Given the description of an element on the screen output the (x, y) to click on. 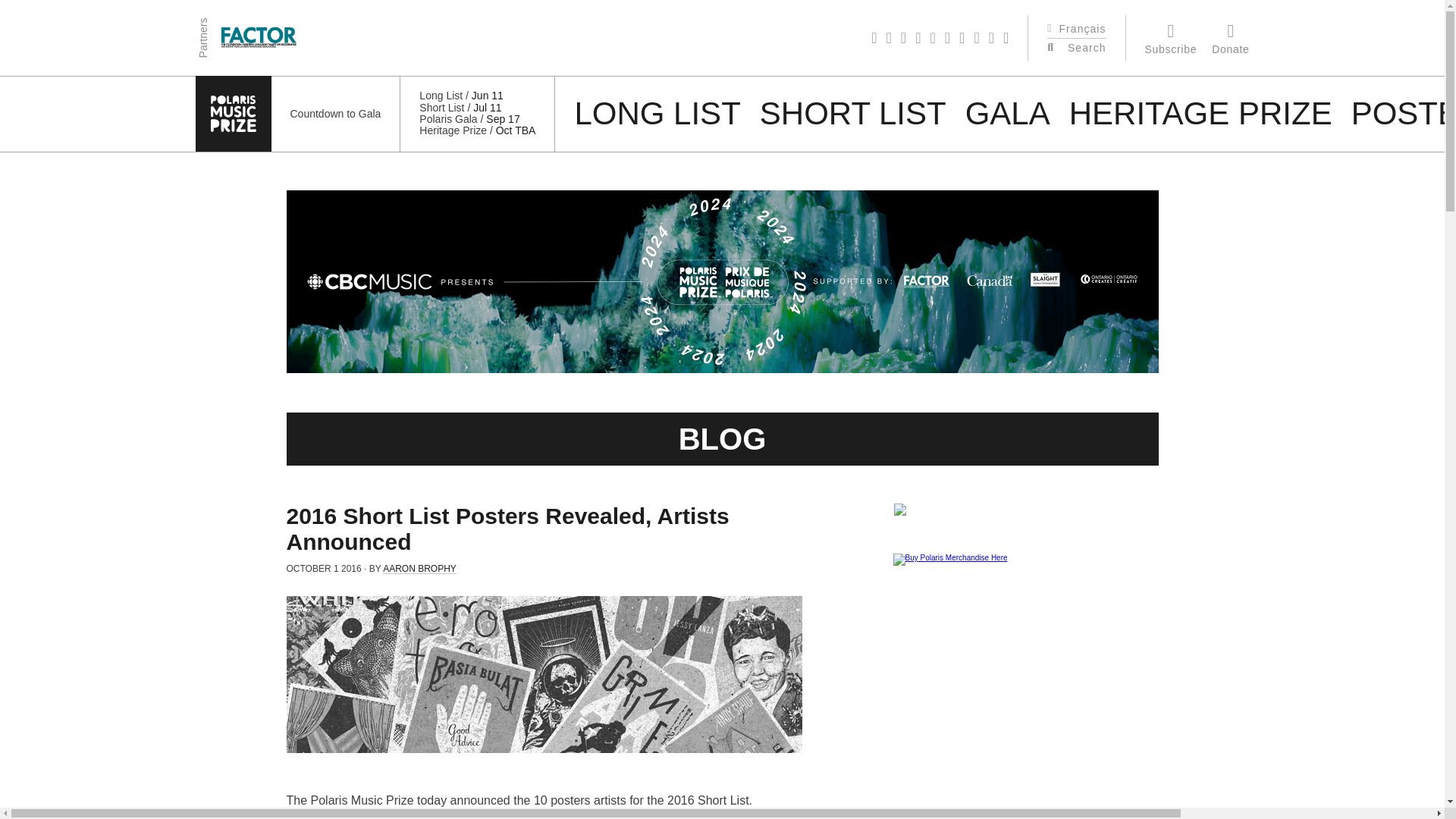
Search (1086, 47)
Subscribe (1170, 37)
GALA (1007, 113)
LONG LIST (656, 113)
POSTERS (1403, 113)
HERITAGE PRIZE (1200, 113)
AARON BROPHY (419, 567)
SHORT LIST (853, 113)
Posts by Aaron Brophy (419, 567)
